Given the description of an element on the screen output the (x, y) to click on. 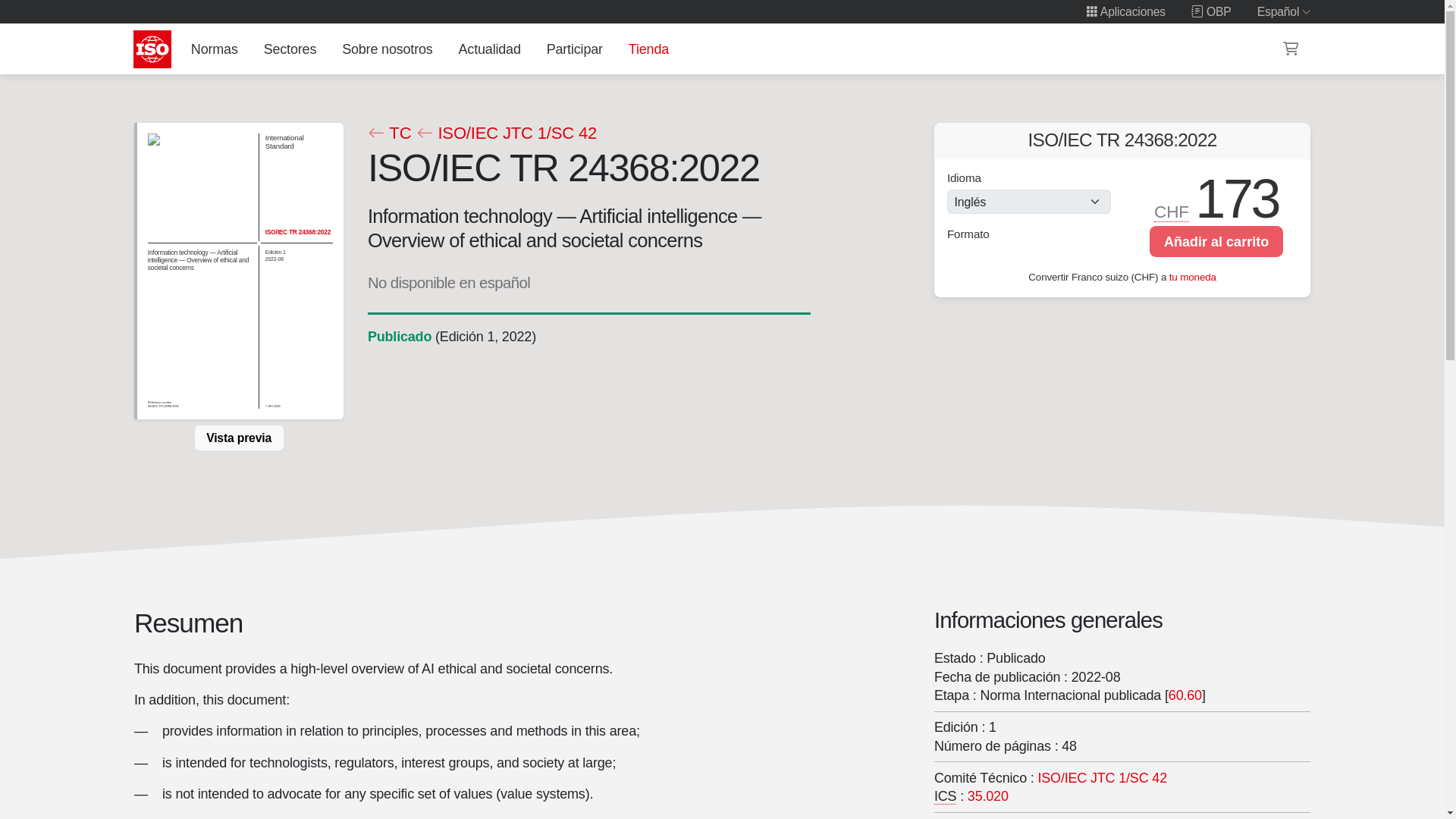
Portal de aplicaciones de ISO (1126, 11)
Tienda (648, 48)
Sobre nosotros (387, 48)
35.020 (988, 795)
Sectores (290, 48)
Participar (574, 48)
 Aplicaciones (1126, 11)
Vista previa (237, 437)
Francos suizos (1171, 211)
Artificial intelligence (1102, 777)
TC (388, 133)
60.60 (1185, 694)
60.60 (1185, 694)
